Given the description of an element on the screen output the (x, y) to click on. 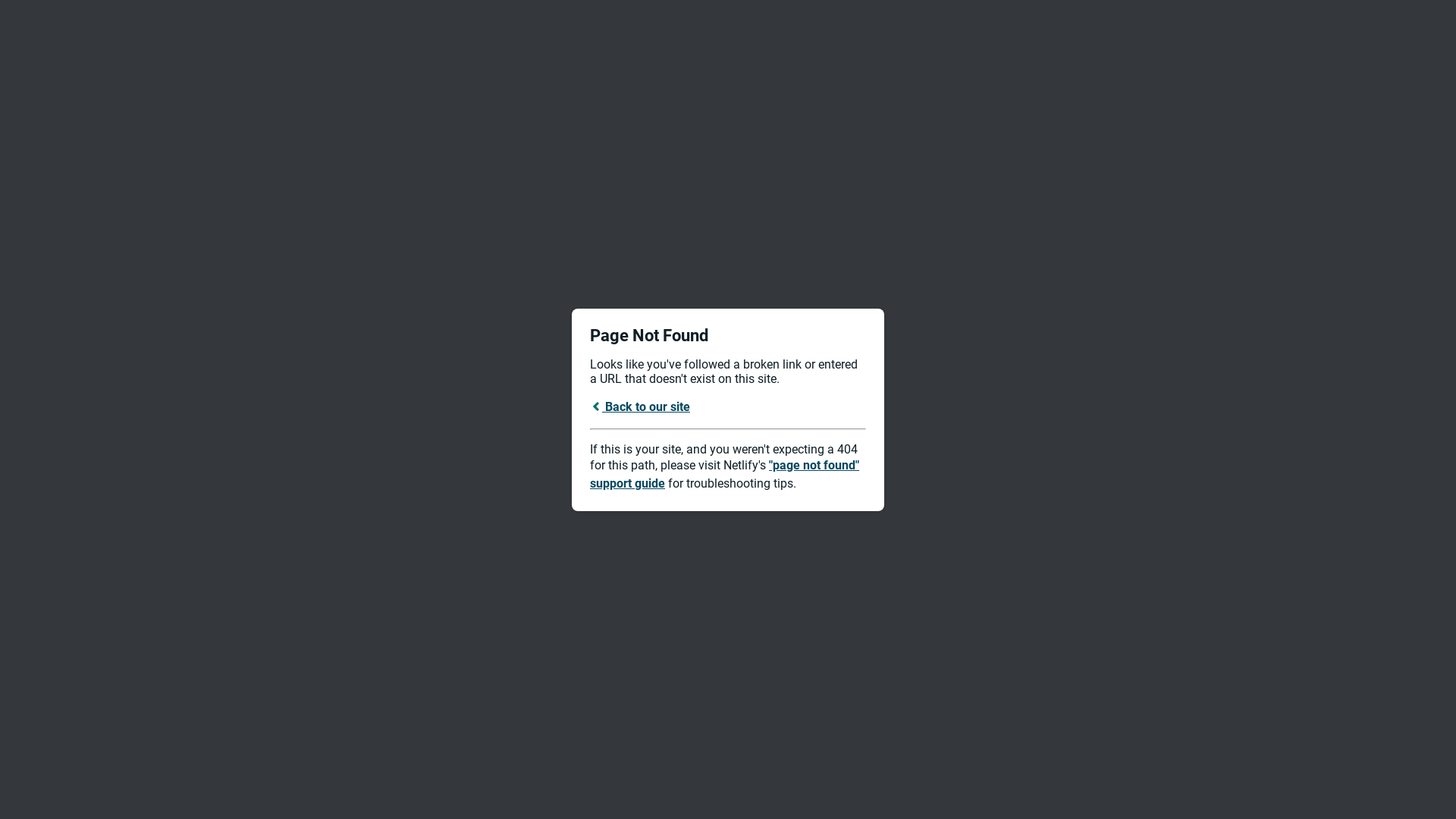
"page not found" support guide Element type: text (724, 474)
Back to our site Element type: text (639, 405)
